Given the description of an element on the screen output the (x, y) to click on. 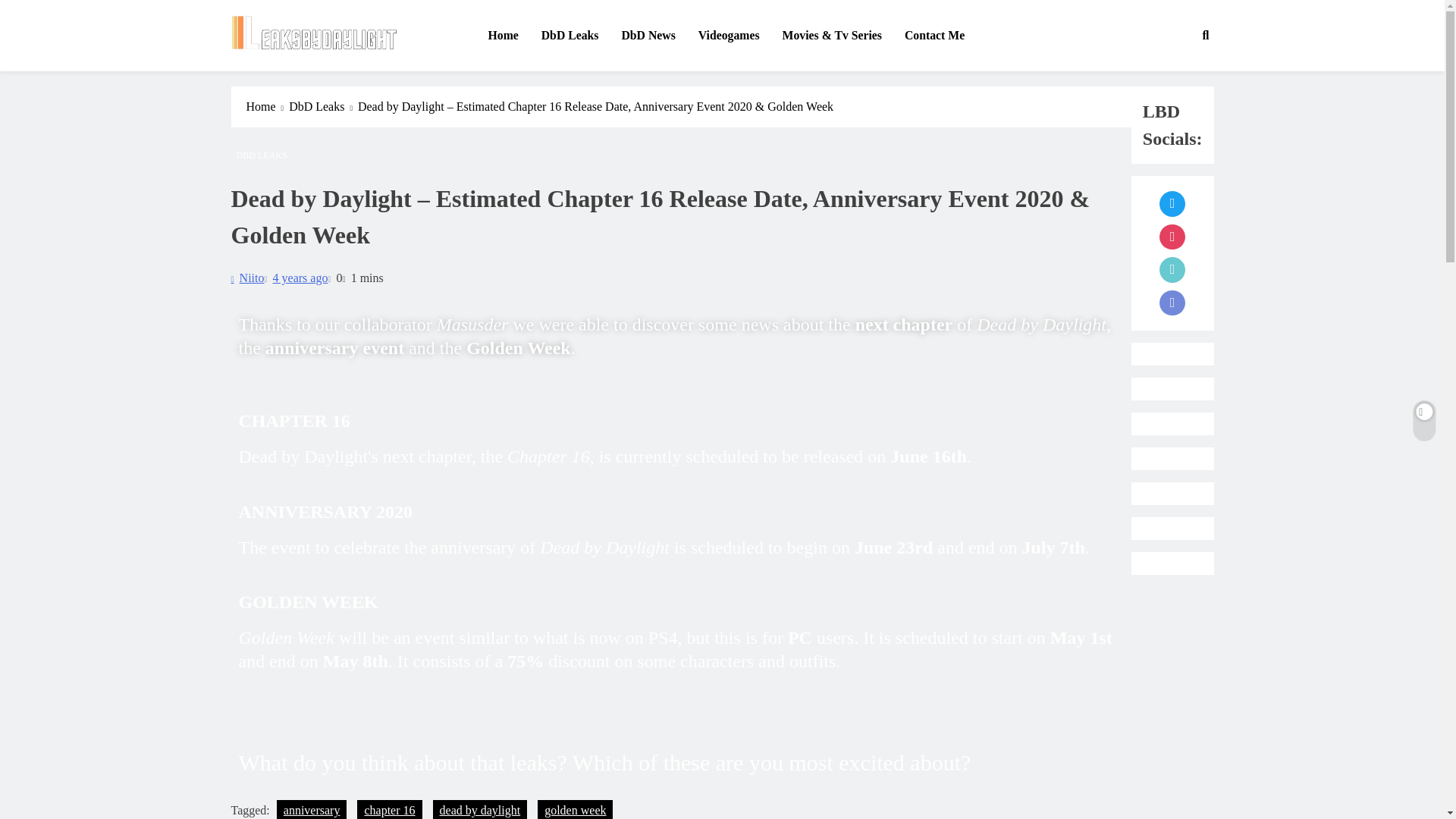
4 years ago (301, 277)
DbD Leaks (569, 35)
anniversary (311, 809)
Tiktok (1172, 269)
LeaksByDaylight (316, 71)
DbD Leaks (323, 106)
Twitter (1172, 203)
Videogames (729, 35)
Home (502, 35)
dead by daylight (479, 809)
Instagram (1172, 236)
Niito (246, 277)
Home (267, 106)
golden week (574, 809)
DBD LEAKS (261, 154)
